Given the description of an element on the screen output the (x, y) to click on. 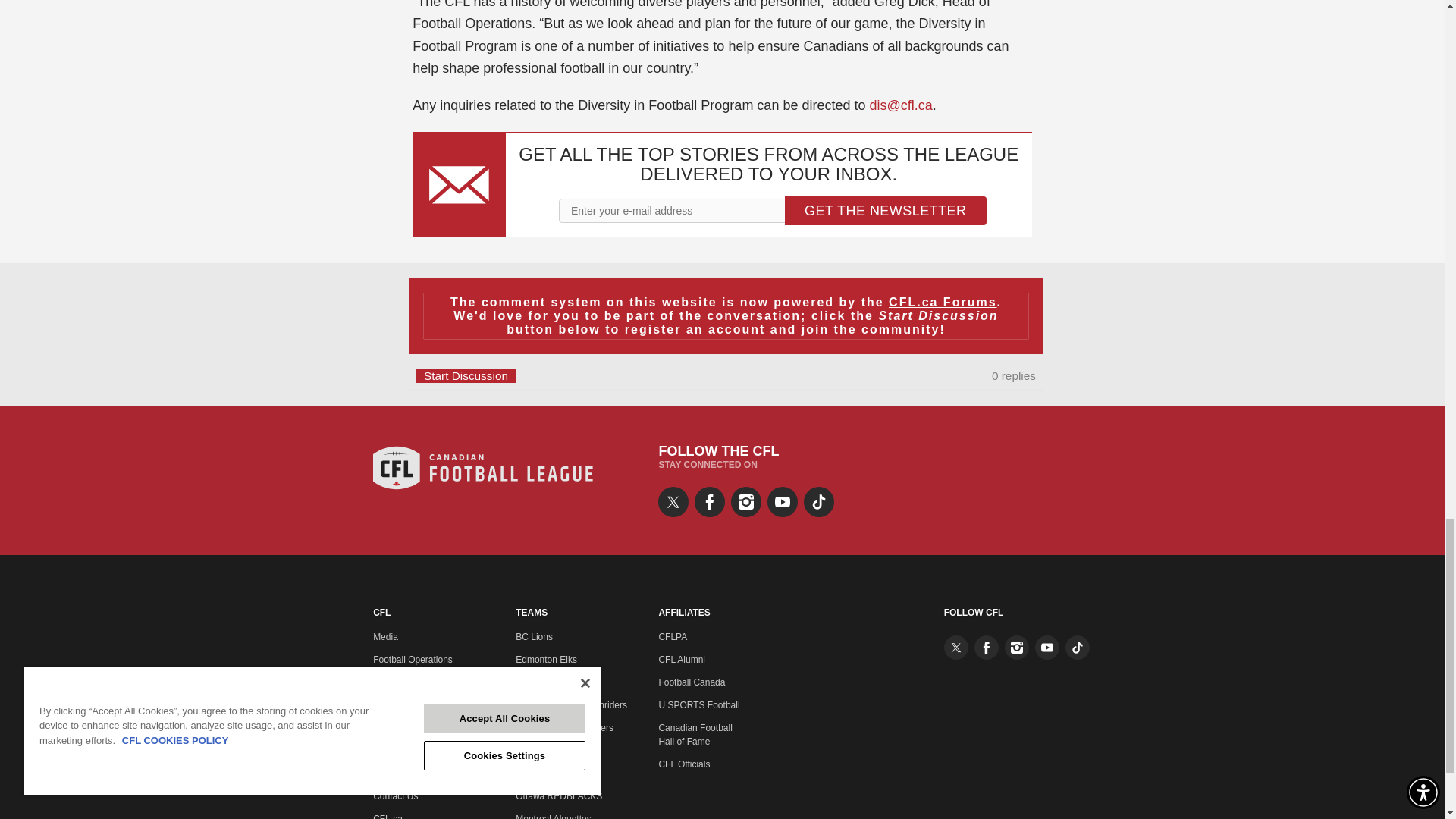
Get The Newsletter (885, 210)
